Given the description of an element on the screen output the (x, y) to click on. 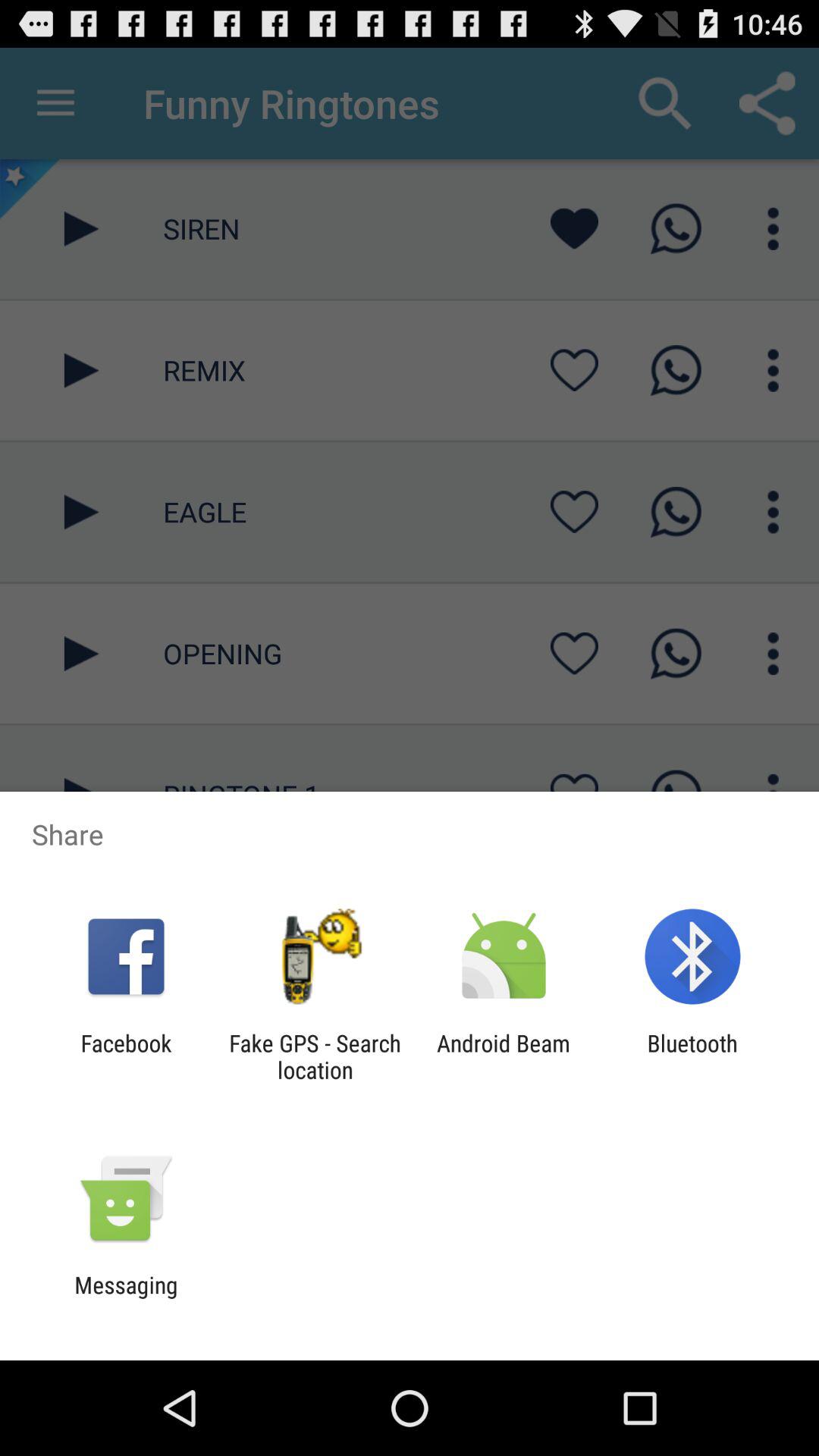
select the item next to the android beam app (314, 1056)
